Given the description of an element on the screen output the (x, y) to click on. 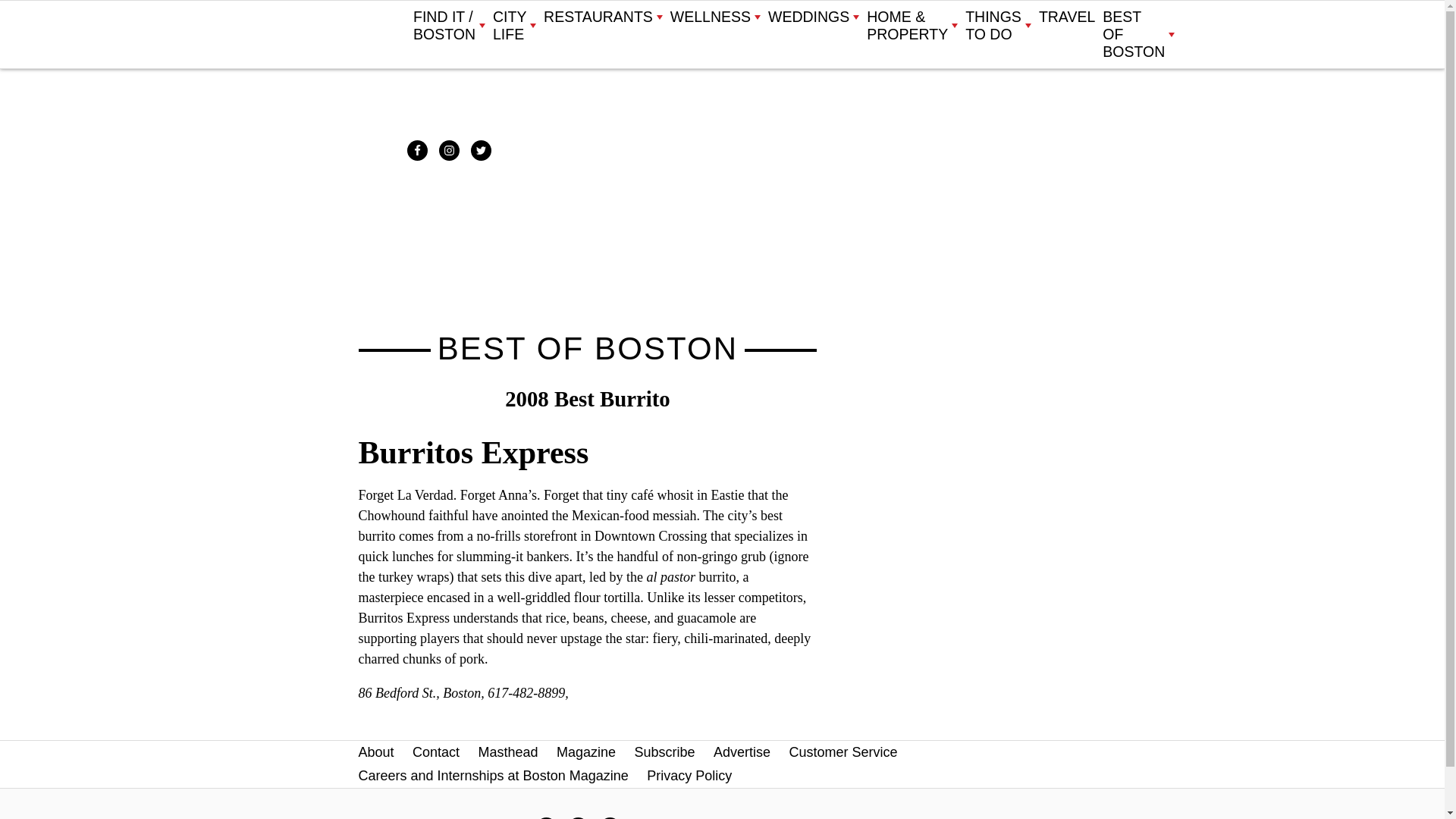
THINGS TO DO (997, 25)
WELLNESS (714, 16)
RESTAURANTS (602, 16)
WEDDINGS (813, 16)
